Given the description of an element on the screen output the (x, y) to click on. 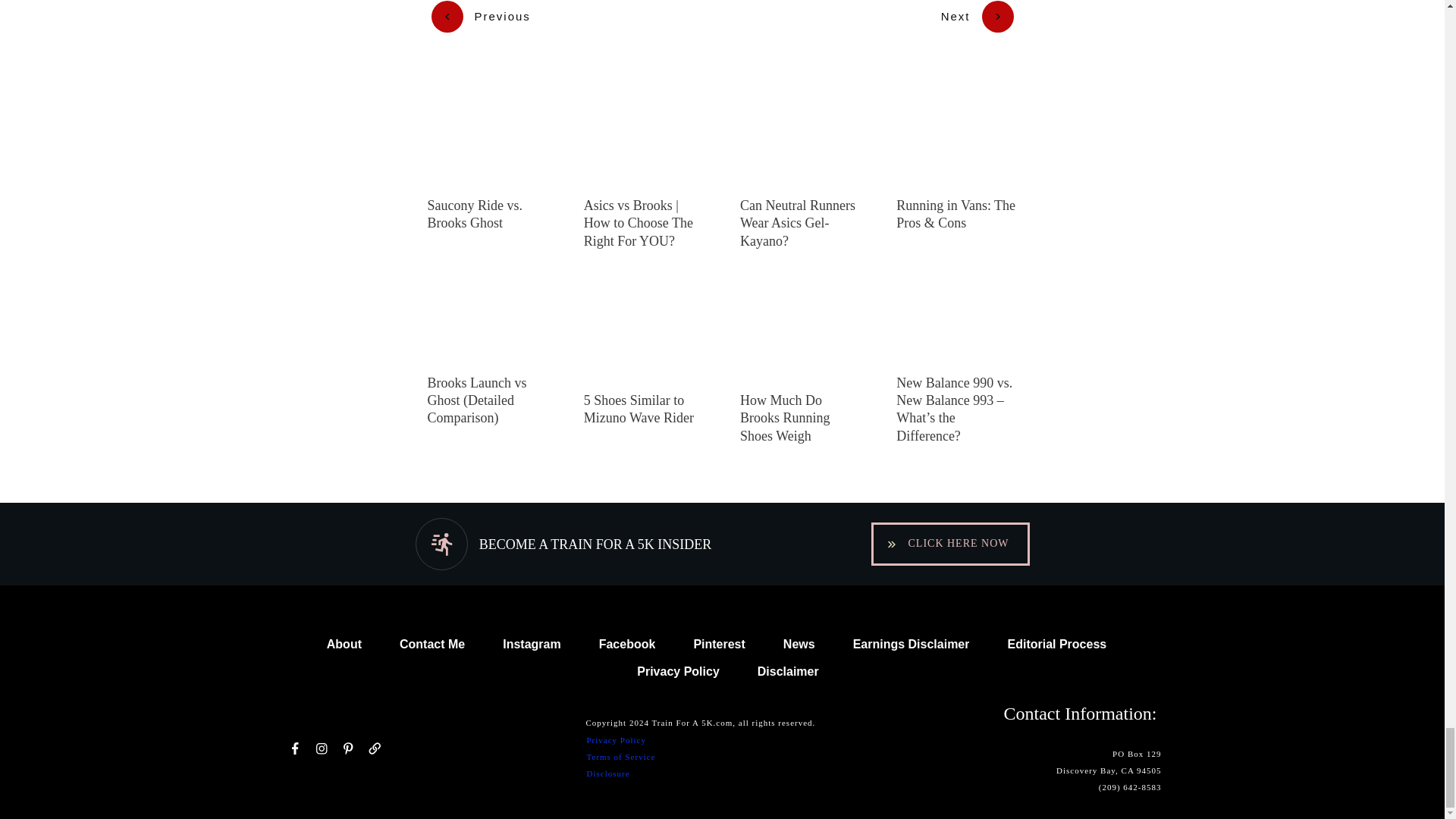
Saucony Ride vs. Brooks Ghost (475, 214)
